Given the description of an element on the screen output the (x, y) to click on. 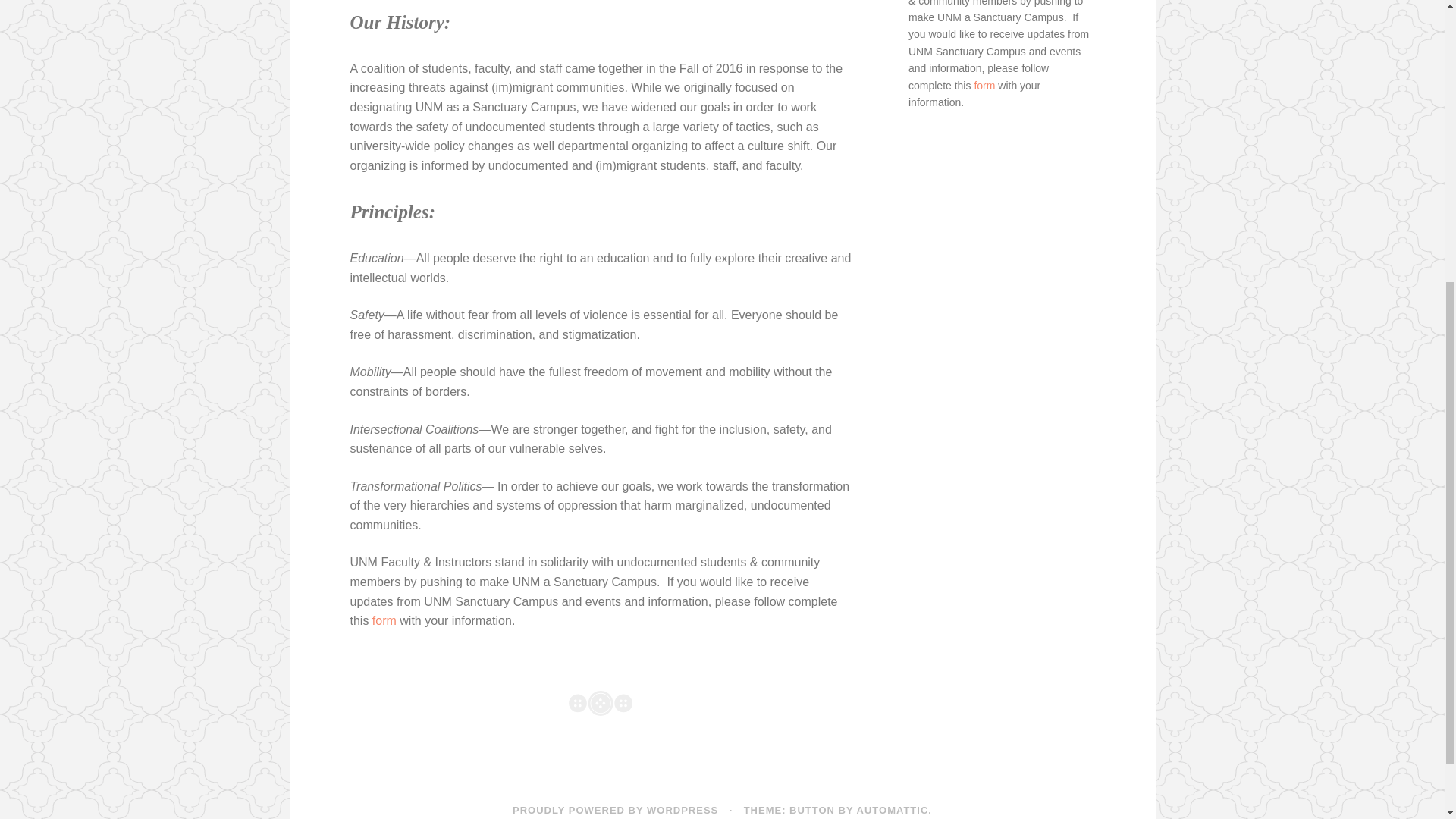
PROUDLY POWERED BY WORDPRESS (614, 809)
AUTOMATTIC (892, 809)
form (984, 85)
form (384, 620)
